Given the description of an element on the screen output the (x, y) to click on. 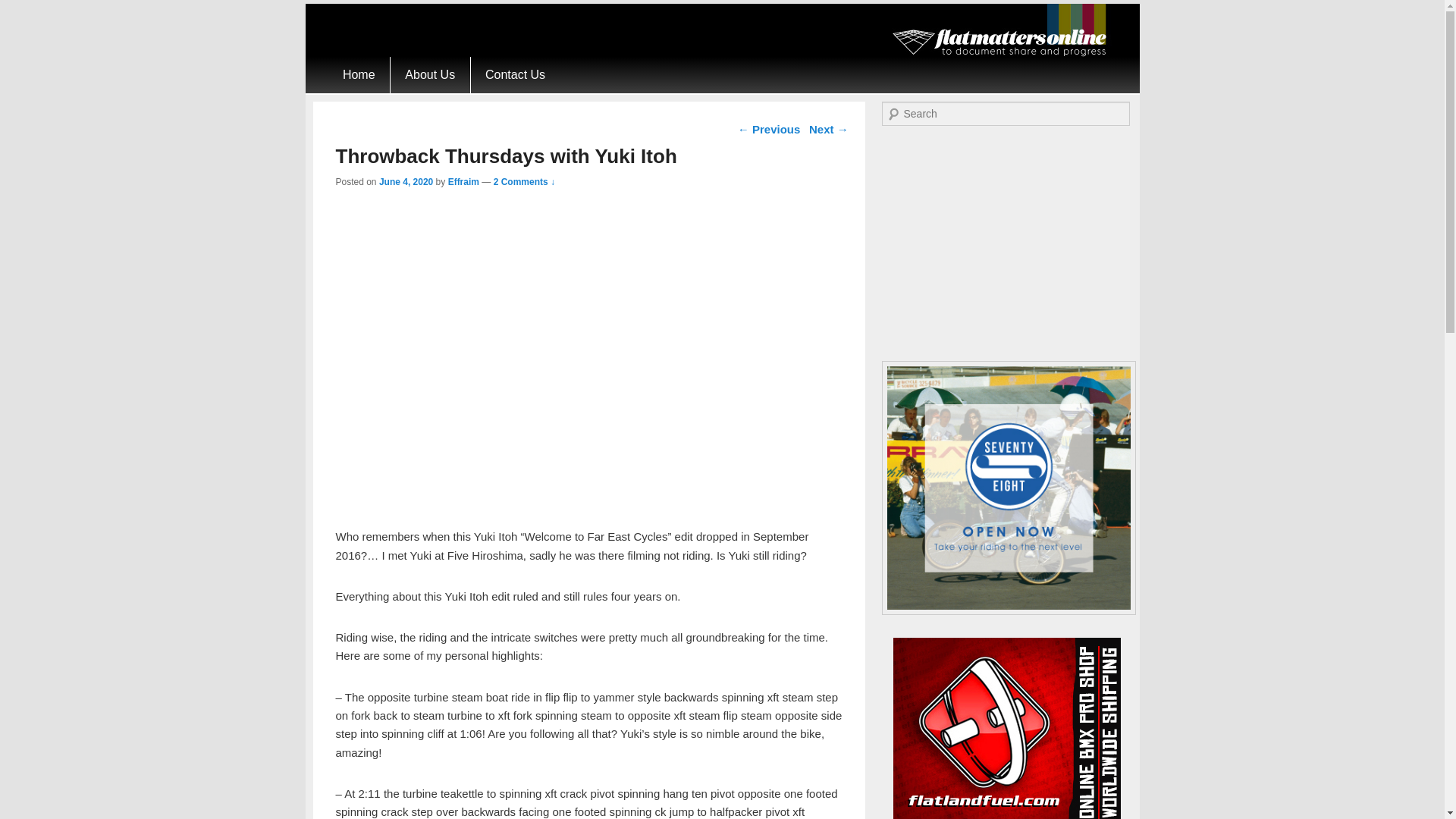
Effraim (463, 181)
Search (21, 11)
Home (357, 74)
June 4, 2020 (405, 181)
5:47 pm (405, 181)
Skip to primary content (385, 65)
Flat Matters Online (968, 79)
Flat Matters Online (968, 79)
Skip to secondary content (392, 65)
